Given the description of an element on the screen output the (x, y) to click on. 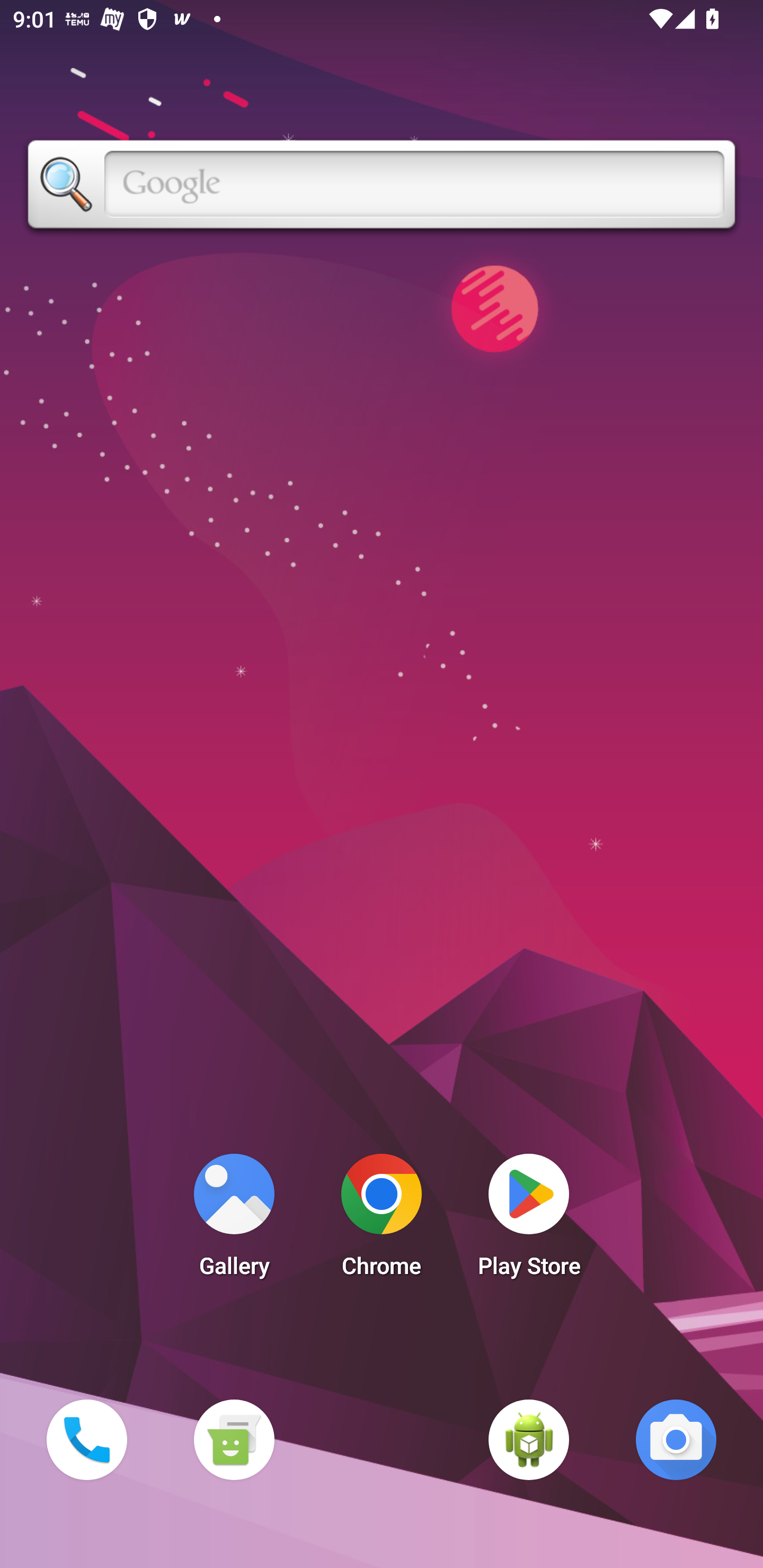
Gallery (233, 1220)
Chrome (381, 1220)
Play Store (528, 1220)
Phone (86, 1439)
Messaging (233, 1439)
WebView Browser Tester (528, 1439)
Camera (676, 1439)
